Given the description of an element on the screen output the (x, y) to click on. 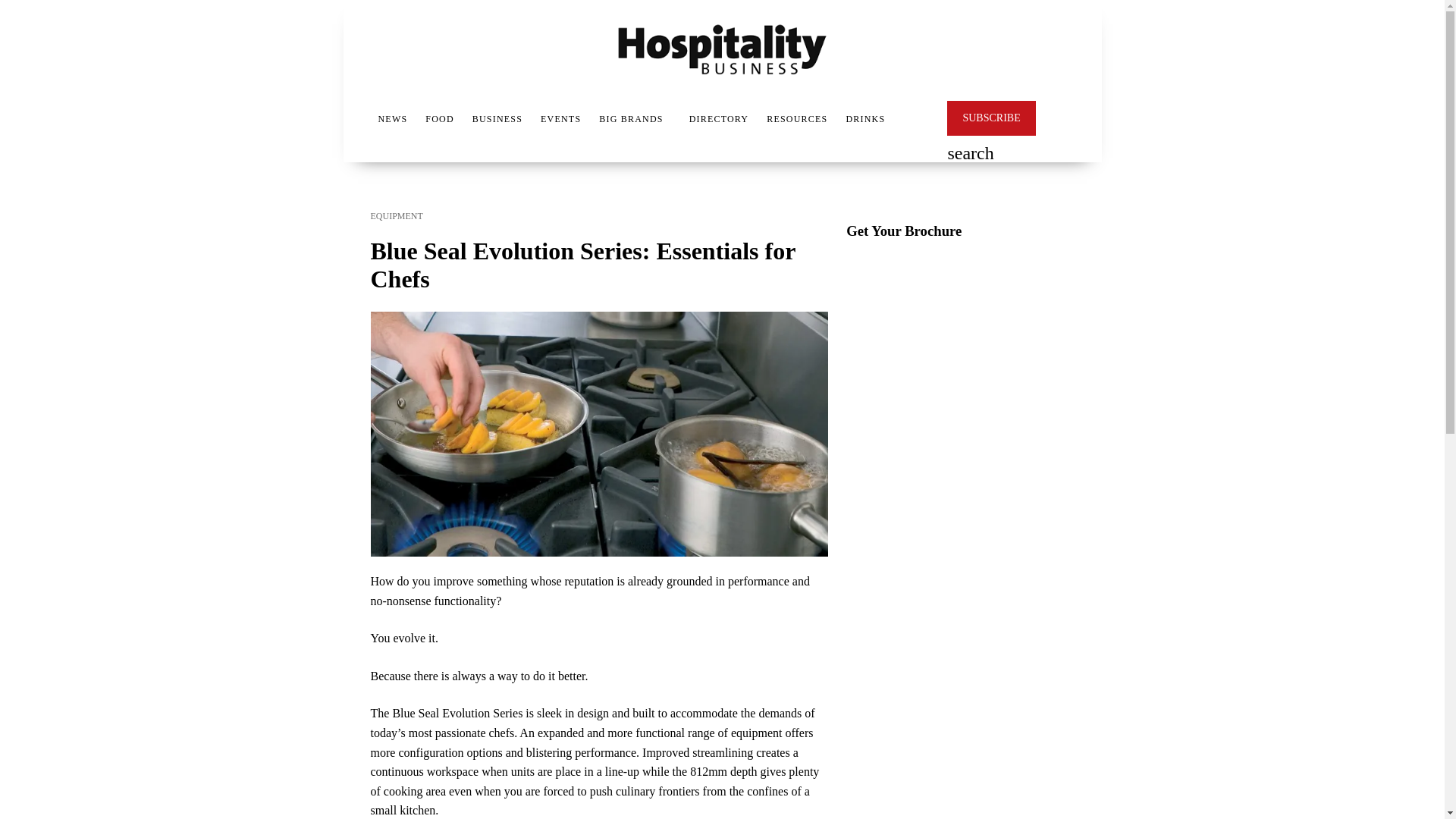
BIG BRANDS (630, 118)
SUBSCRIBE (991, 117)
DRINKS (865, 118)
EVENTS (560, 118)
RESOURCES (797, 118)
search (969, 154)
DIRECTORY (718, 118)
BUSINESS (496, 118)
